Given the description of an element on the screen output the (x, y) to click on. 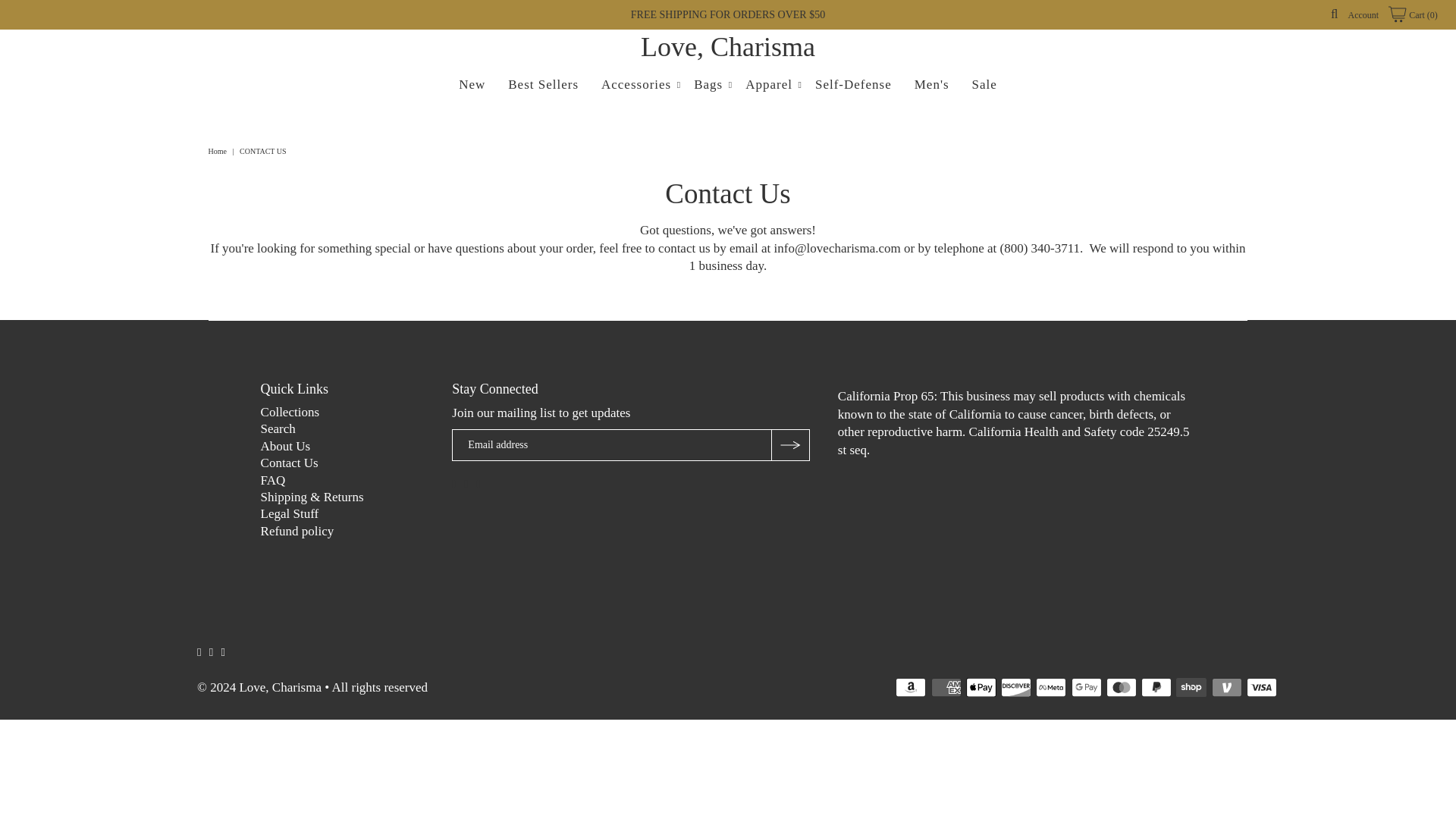
Amazon (910, 687)
Apple Pay (980, 687)
Venmo (1226, 687)
Mastercard (1121, 687)
Google Pay (1086, 687)
American Express (945, 687)
Home (219, 151)
Shop Pay (1191, 687)
PayPal (1156, 687)
Meta Pay (1050, 687)
Visa (1261, 687)
Discover (1015, 687)
